Given the description of an element on the screen output the (x, y) to click on. 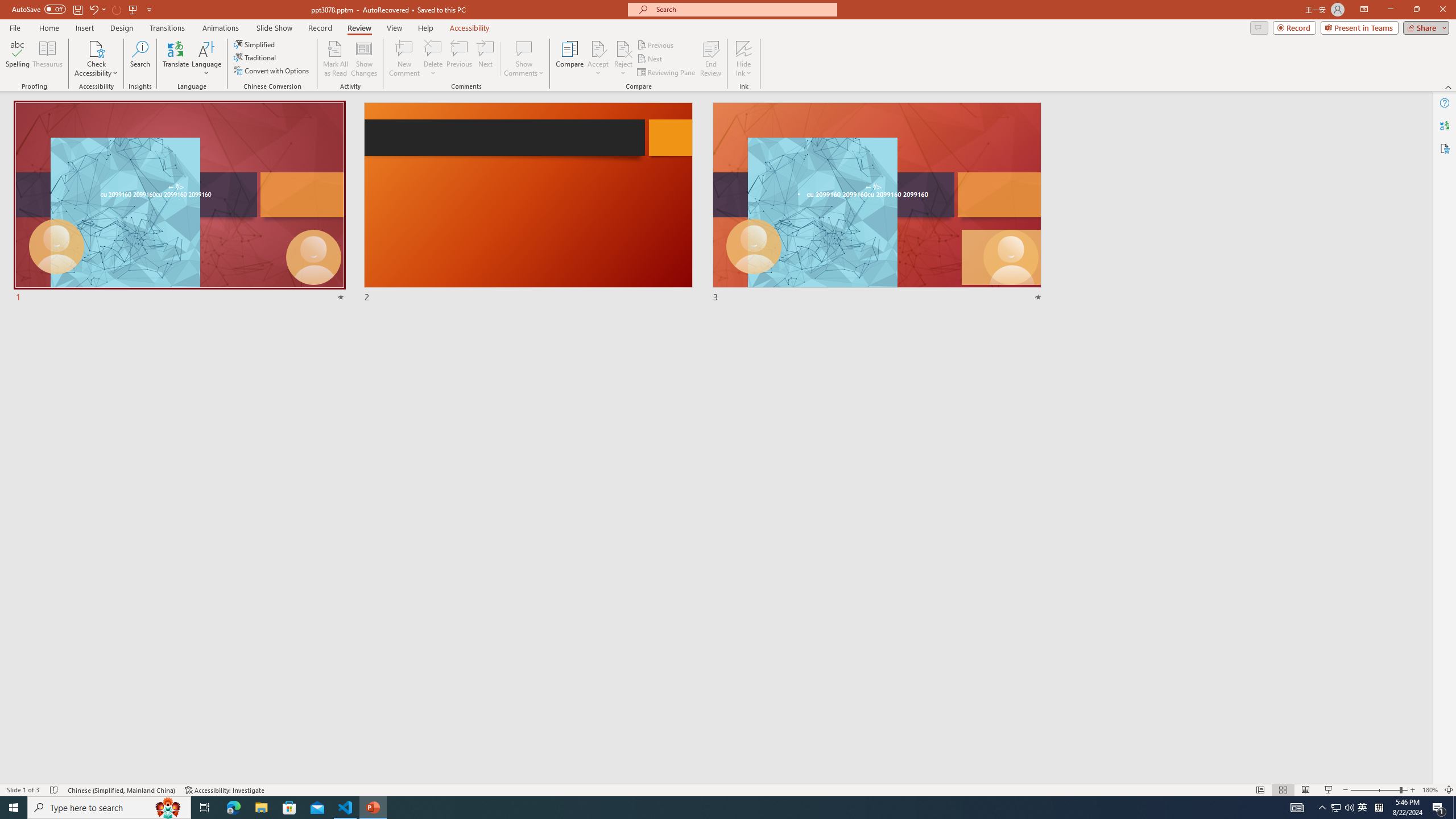
Reject (622, 58)
Undo (92, 9)
Transitions (167, 28)
Minimize (1390, 9)
Accessibility (1444, 147)
Hide Ink (743, 48)
Language (206, 58)
New Comment (403, 58)
Redo (117, 9)
Record (320, 28)
Show Changes (363, 58)
Zoom In (1412, 790)
Normal (1260, 790)
System (6, 6)
Save (77, 9)
